Given the description of an element on the screen output the (x, y) to click on. 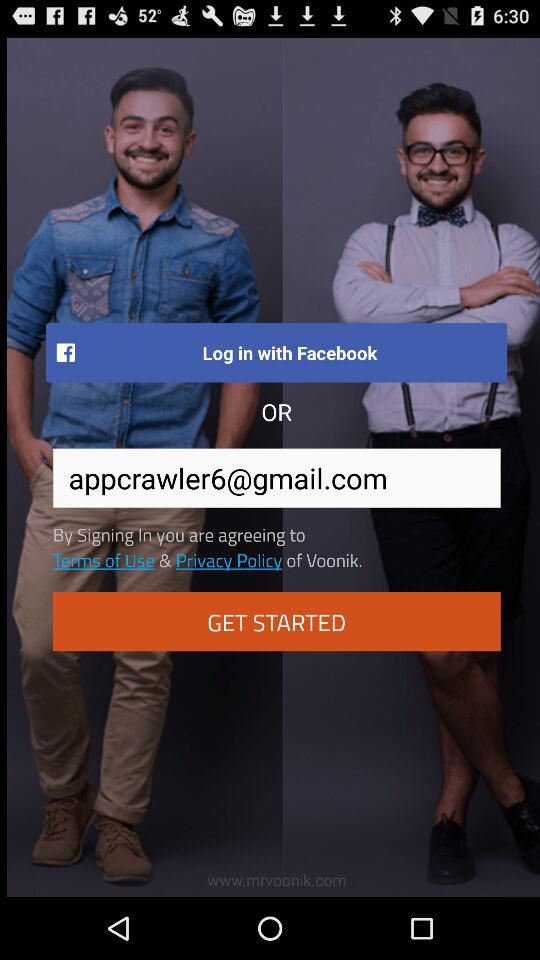
turn off item next to  of voonik.  item (228, 559)
